Given the description of an element on the screen output the (x, y) to click on. 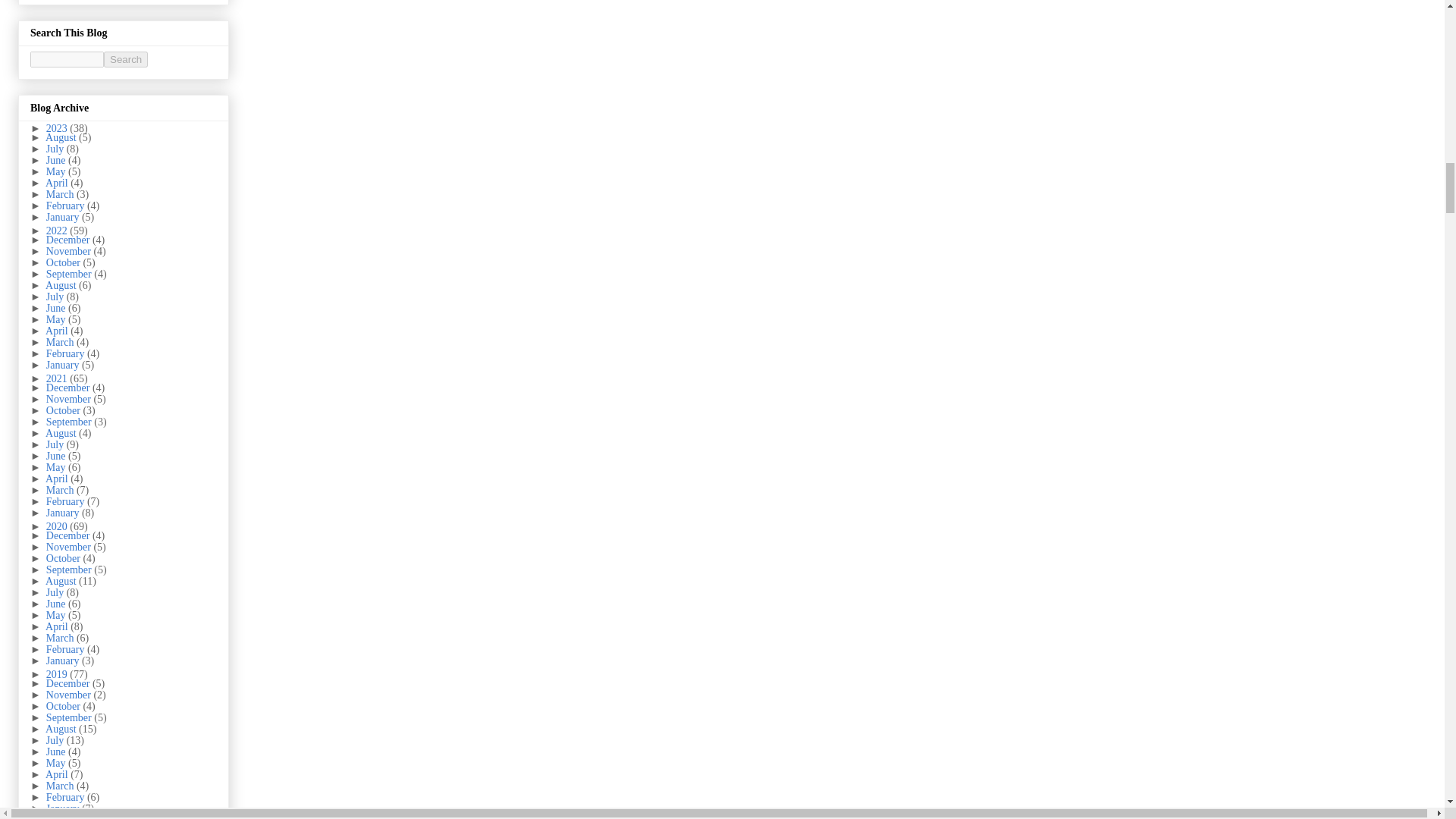
search (125, 59)
search (66, 59)
Search (125, 59)
Search (125, 59)
